Given the description of an element on the screen output the (x, y) to click on. 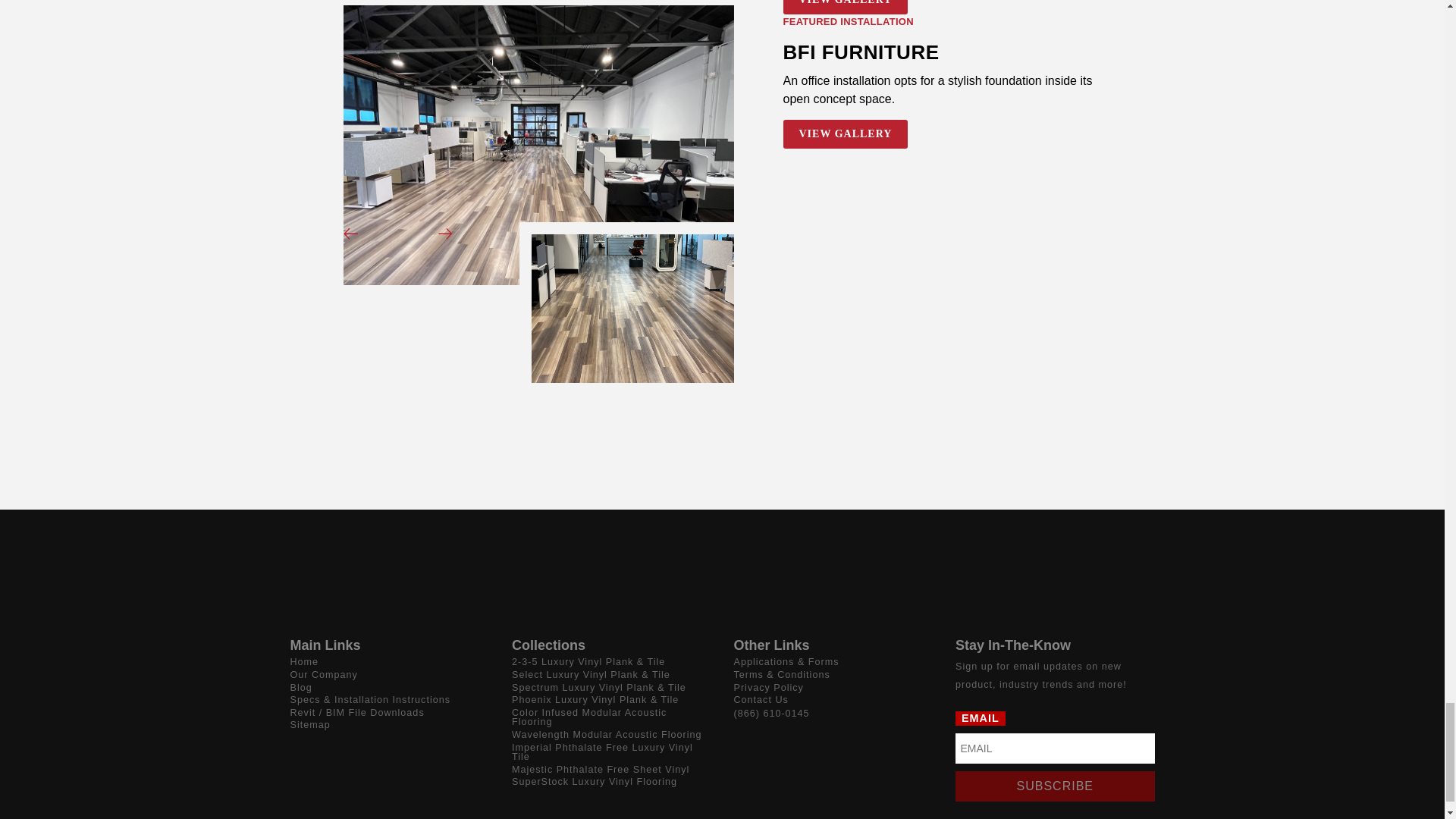
SUBSCRIBE (1054, 786)
